Given the description of an element on the screen output the (x, y) to click on. 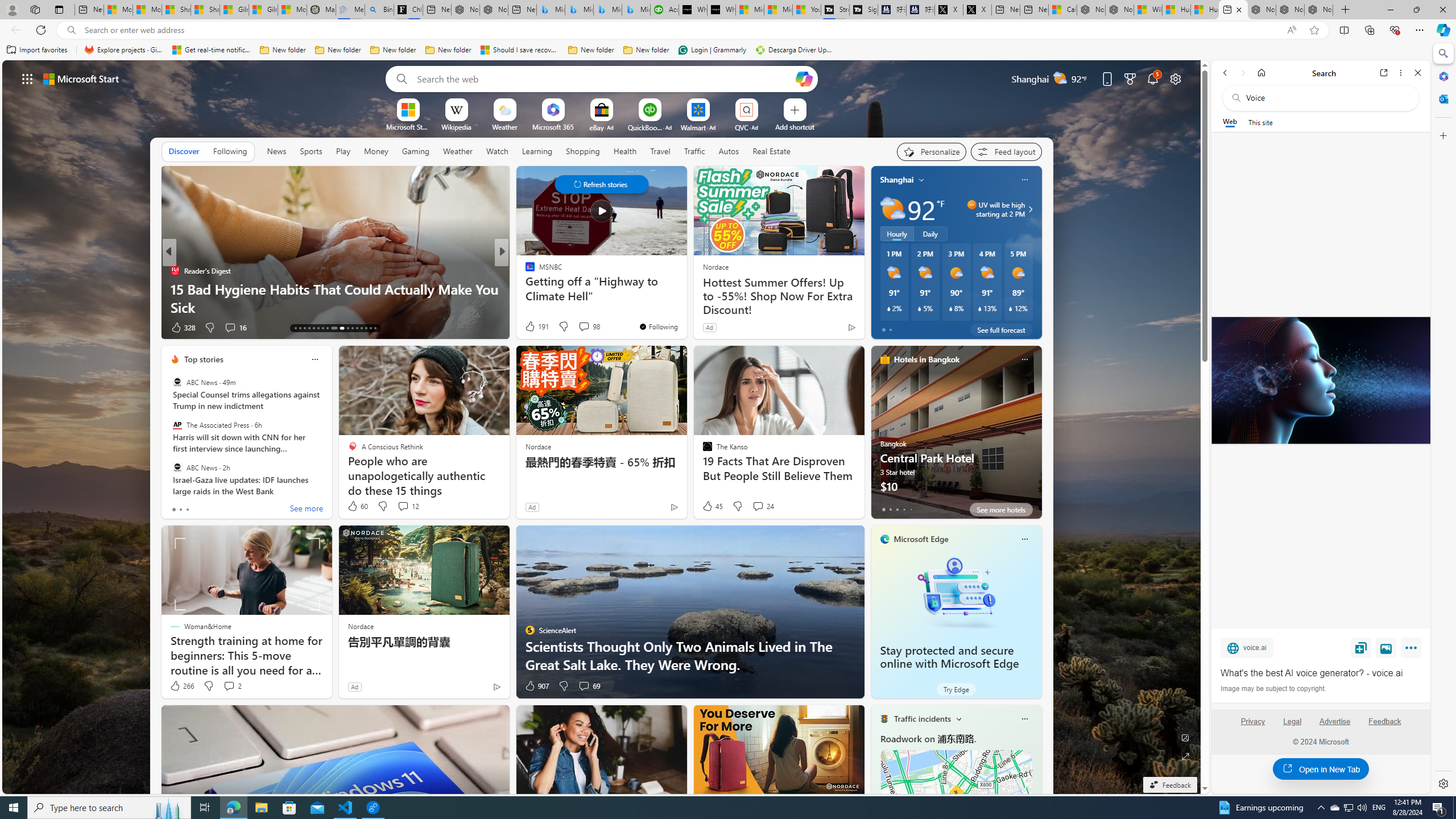
Autos (728, 151)
Microsoft Bing Travel - Stays in Bangkok, Bangkok, Thailand (579, 9)
Try Edge (956, 689)
View comments 12 Comment (408, 505)
View comments 7 Comment (580, 327)
Bing Real Estate - Home sales and rental listings (378, 9)
Health (624, 151)
View comments 56 Comment (585, 327)
News (276, 151)
